Given the description of an element on the screen output the (x, y) to click on. 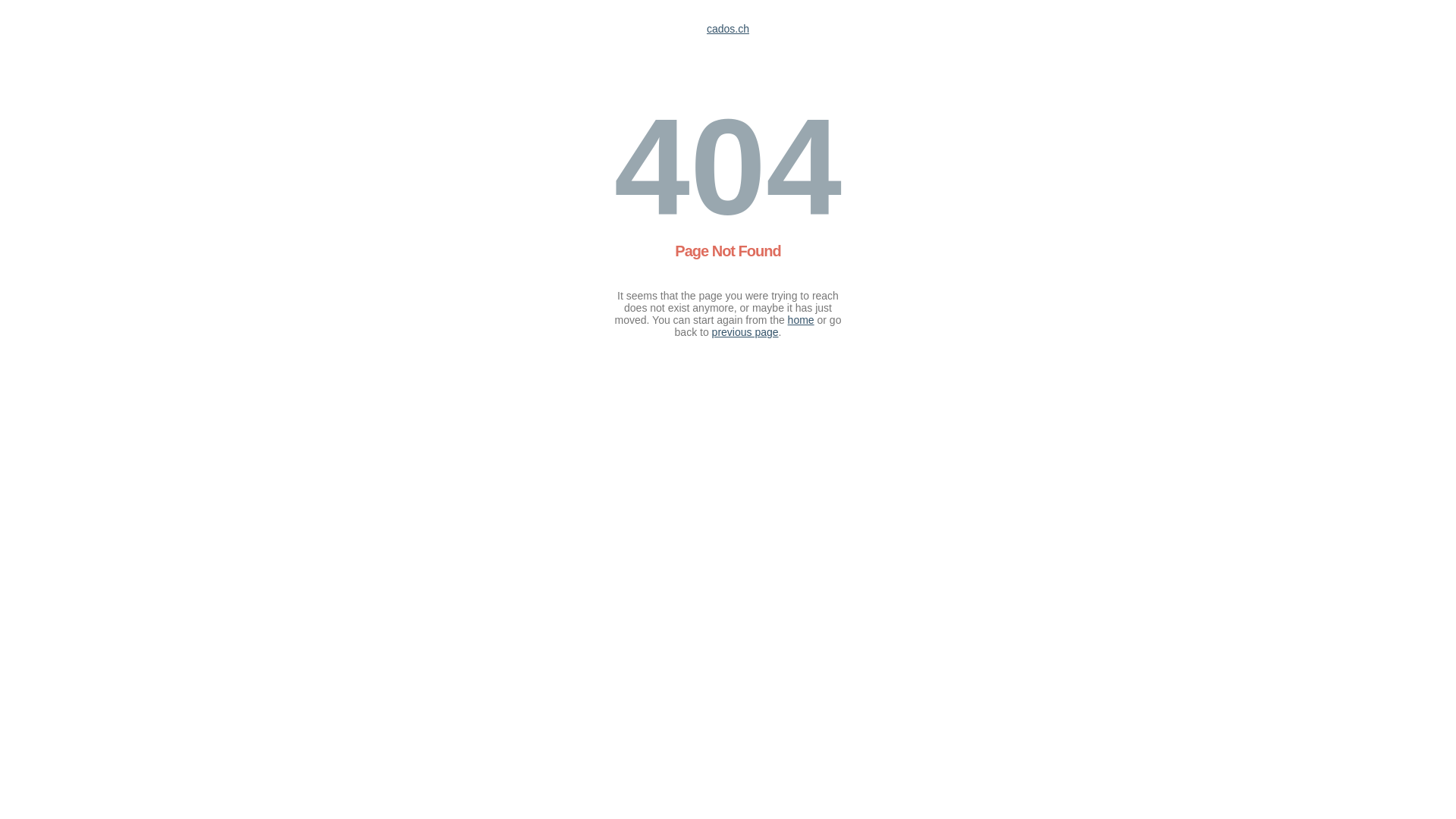
previous page Element type: text (745, 332)
home Element type: text (800, 319)
cados.ch Element type: text (727, 28)
